Given the description of an element on the screen output the (x, y) to click on. 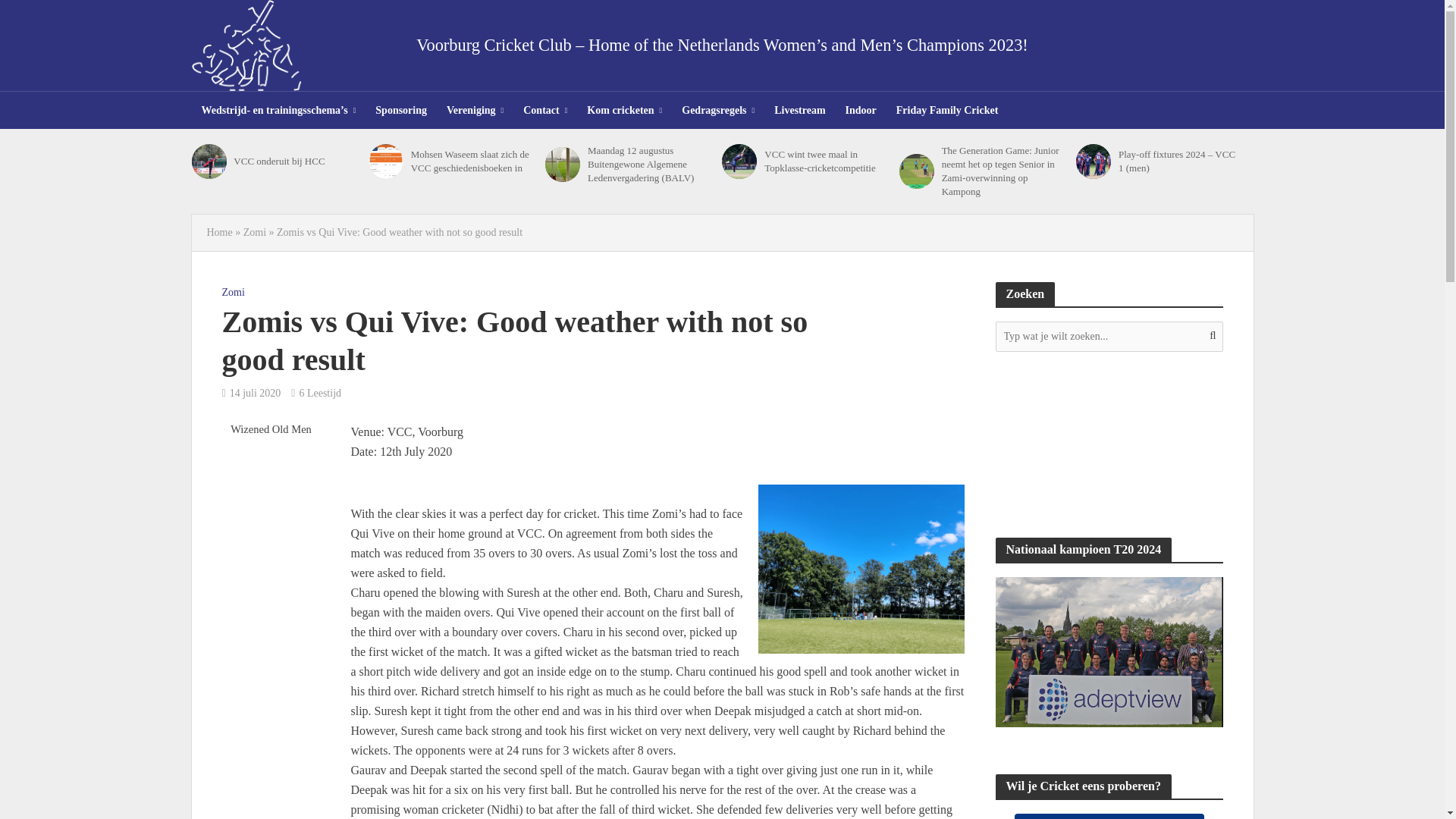
Indoor (860, 110)
Mohsen Waseem slaat zich de VCC geschiedenisboeken in (472, 161)
Sponsoring (400, 110)
VCC onderuit bij HCC (295, 161)
Kom cricketen (623, 110)
Livestream (799, 110)
VCC wint twee maal in Topklasse-cricketcompetitie (739, 161)
Contact (544, 110)
VCC TV: Livestream (1108, 444)
